Given the description of an element on the screen output the (x, y) to click on. 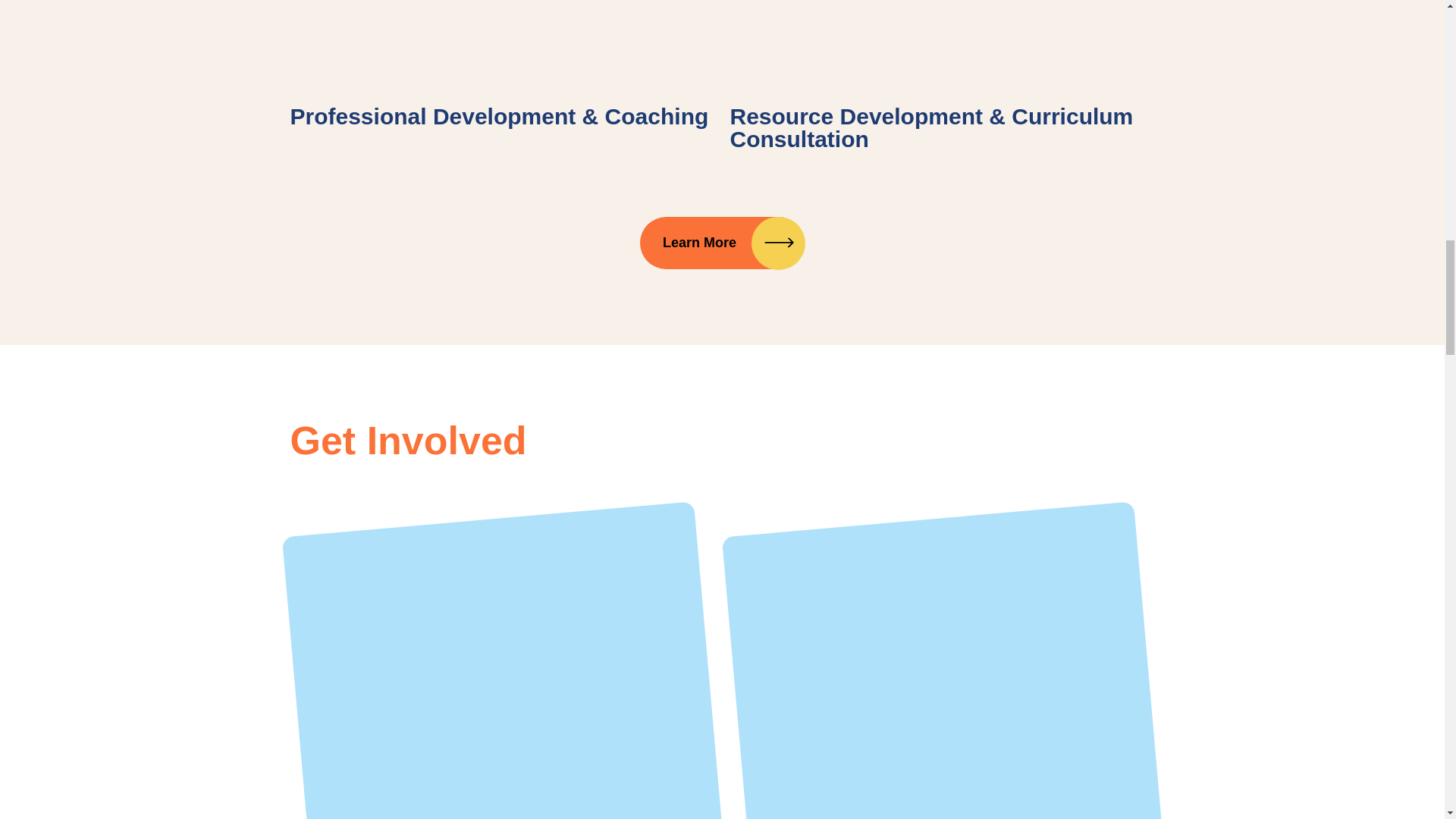
Learn More (722, 243)
